Given the description of an element on the screen output the (x, y) to click on. 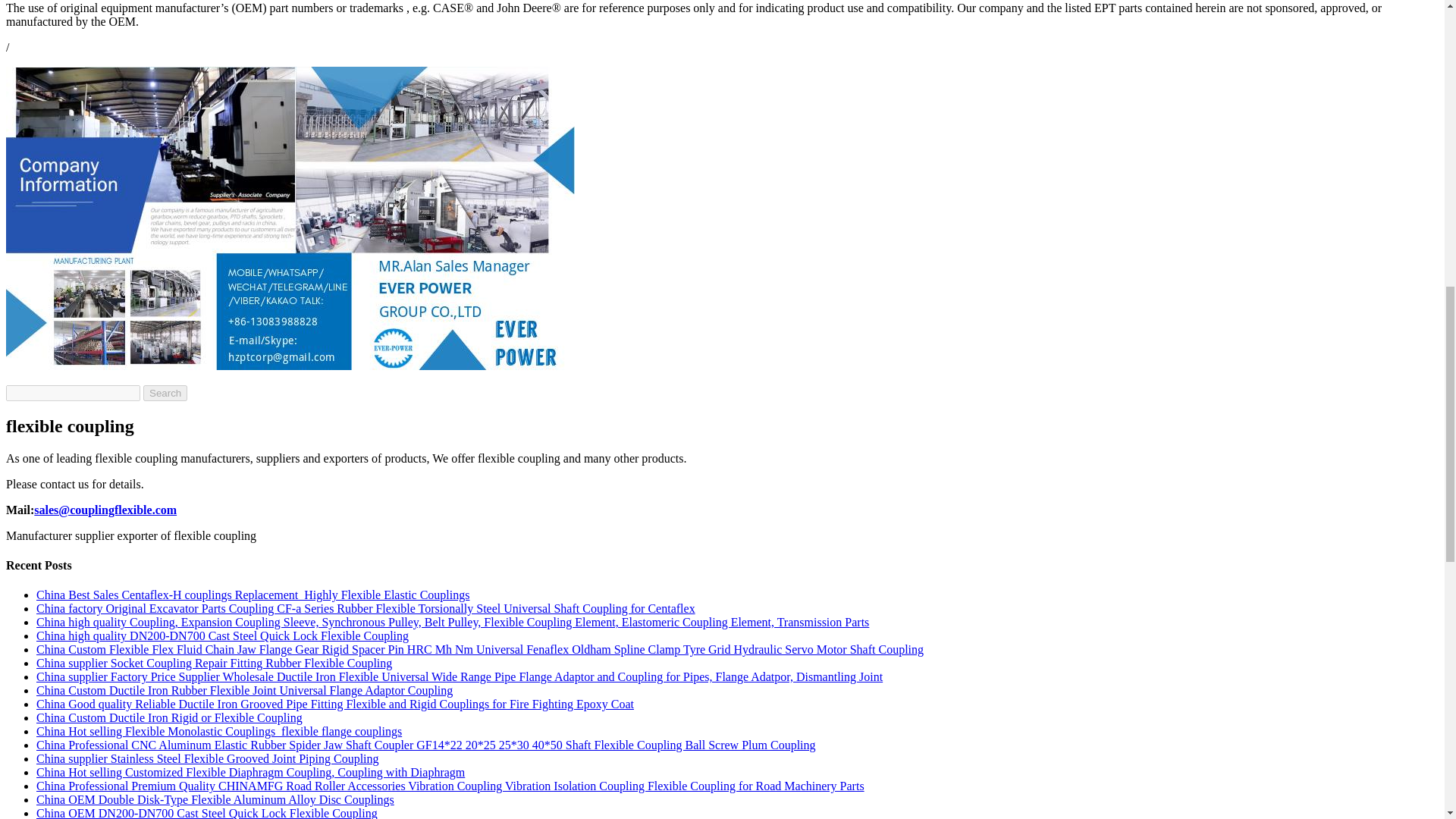
Search (164, 392)
China Custom Ductile Iron Rigid or Flexible Coupling (169, 717)
